Given the description of an element on the screen output the (x, y) to click on. 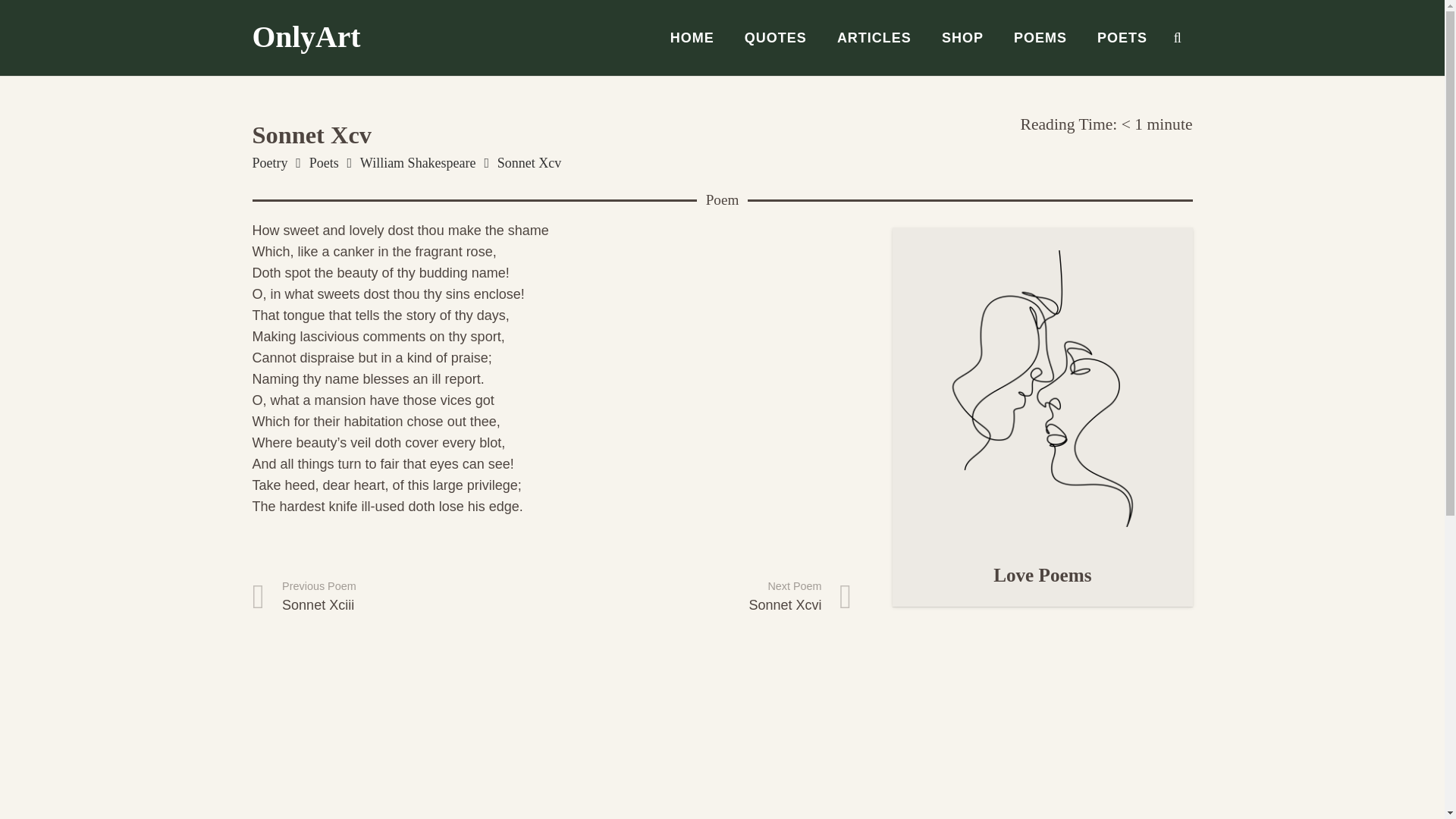
Sonnet Xciii (401, 596)
POETS (401, 596)
HOME (1121, 38)
OnlyArt (692, 38)
SHOP (305, 37)
POEMS (962, 38)
Poets (1039, 38)
William Shakespeare (323, 162)
